Given the description of an element on the screen output the (x, y) to click on. 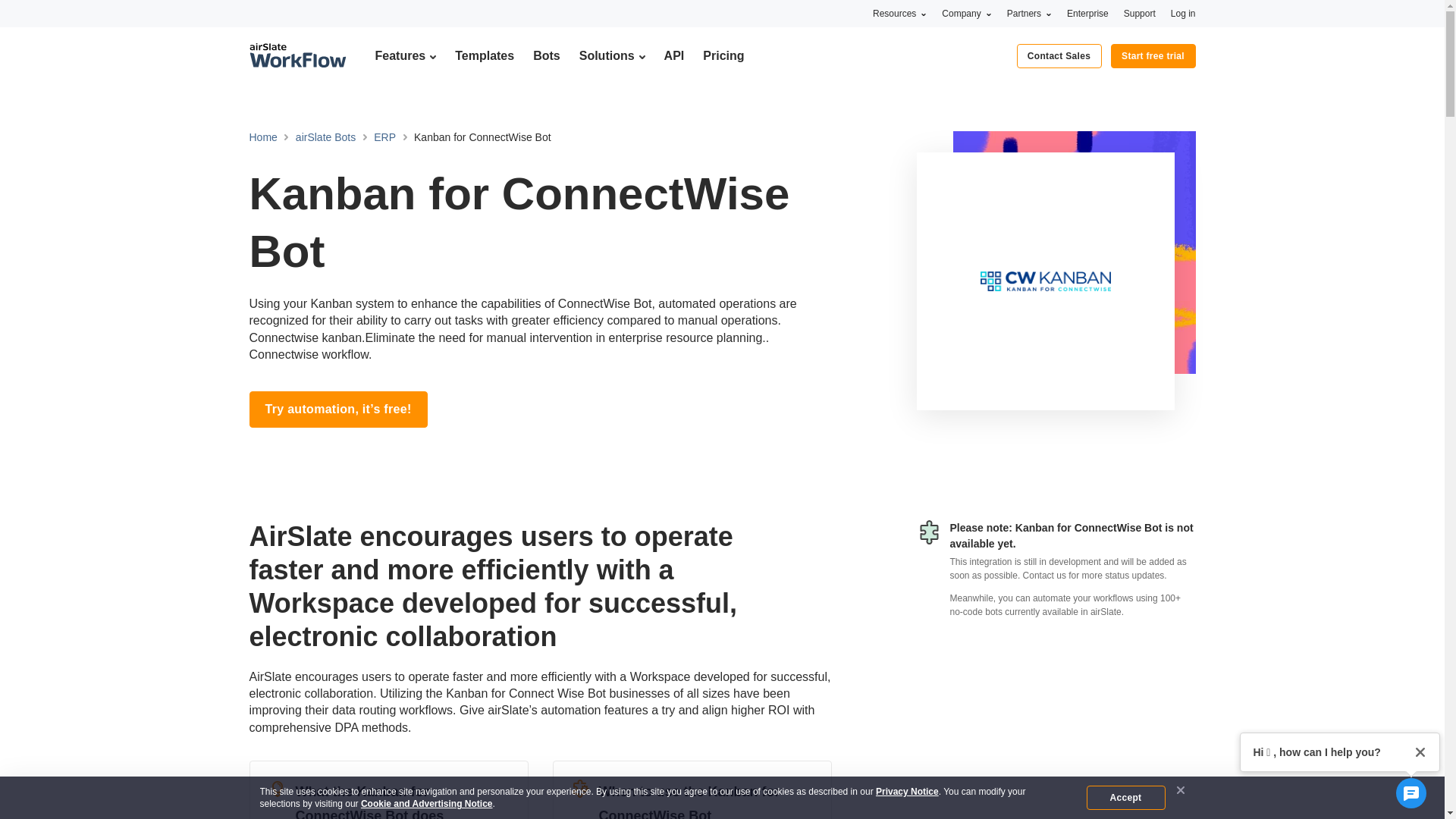
Log in (1182, 13)
Enterprise (1087, 13)
Resources (899, 13)
Support (1140, 13)
Partners (1029, 13)
Templates (483, 55)
Company (966, 13)
